Given the description of an element on the screen output the (x, y) to click on. 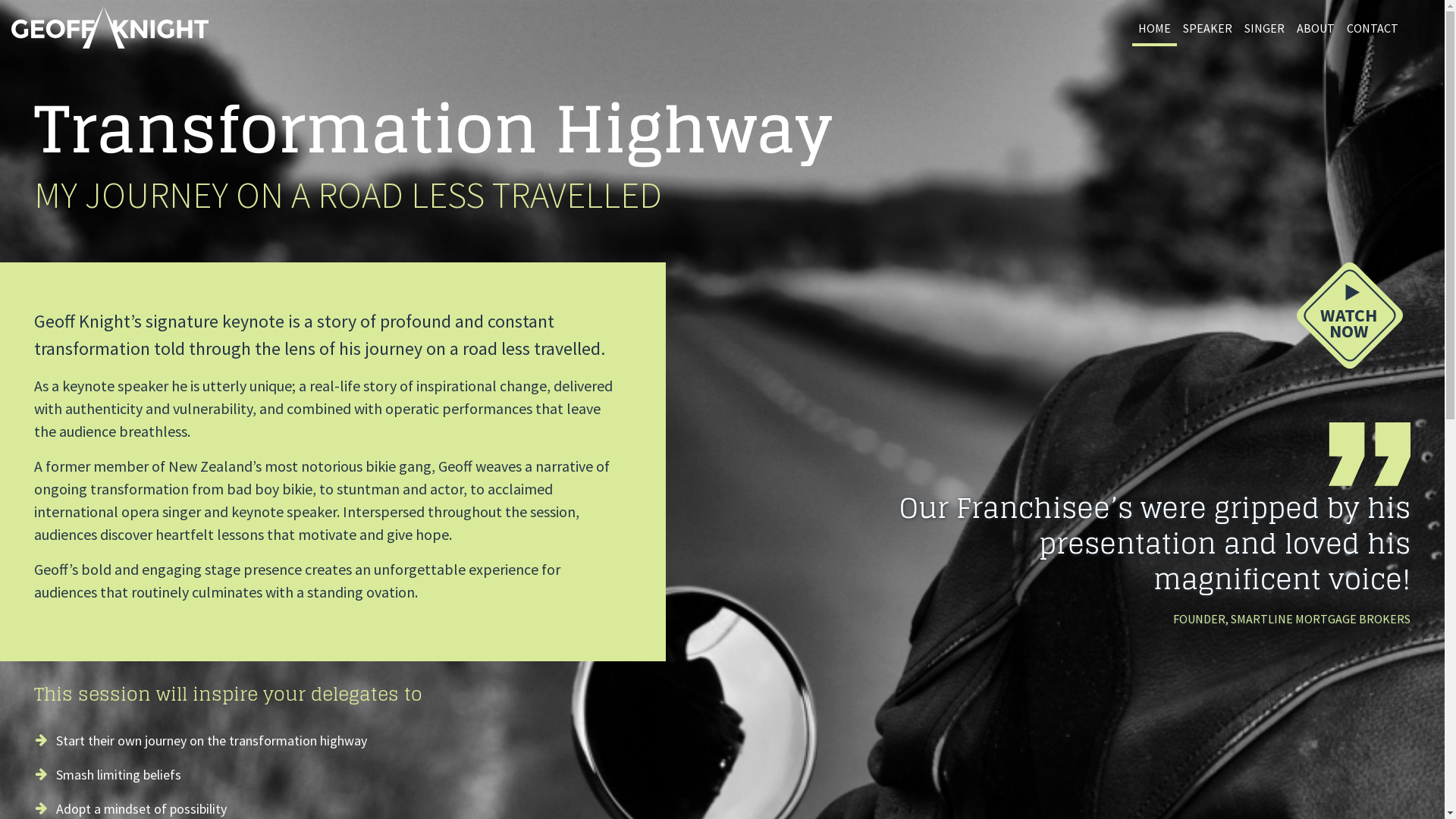
HOME Element type: text (1154, 29)
WATCH
NOW Element type: text (1349, 319)
SINGER Element type: text (1264, 29)
CONTACT Element type: text (1372, 29)
ABOUT Element type: text (1315, 29)
SPEAKER Element type: text (1207, 29)
